Given the description of an element on the screen output the (x, y) to click on. 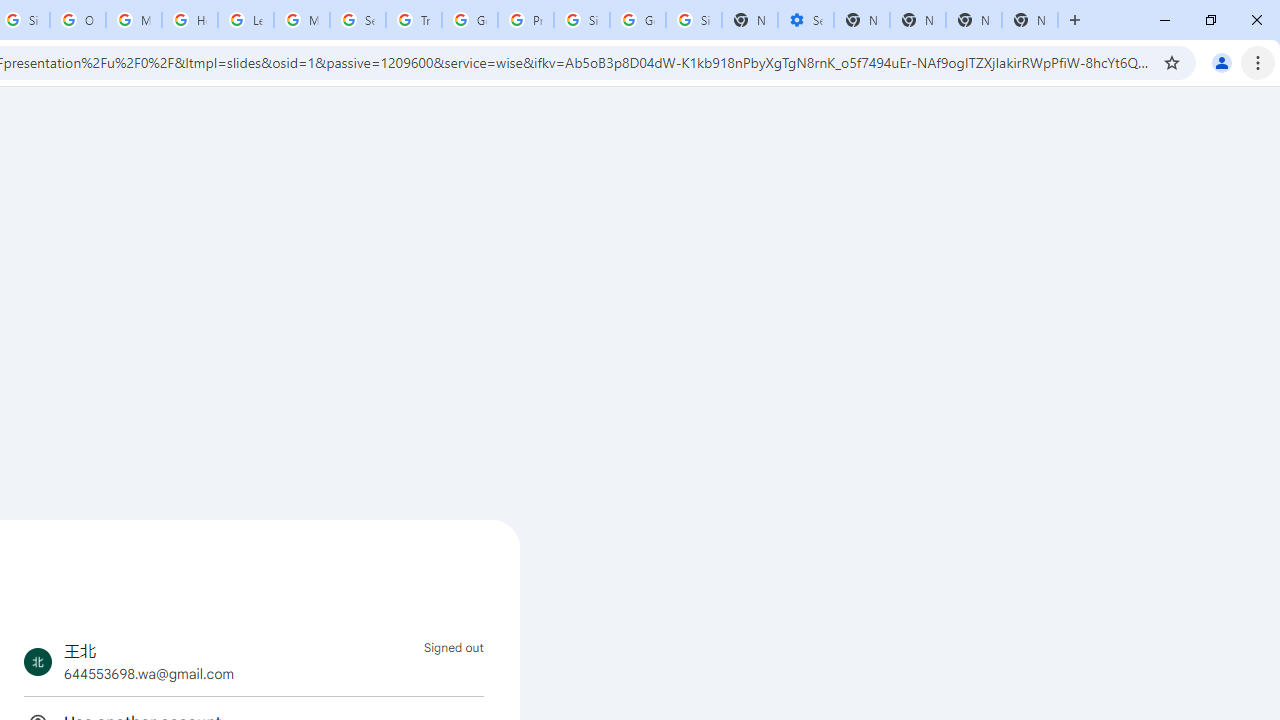
Google Ads - Sign in (469, 20)
Sign in - Google Accounts (582, 20)
Search our Doodle Library Collection - Google Doodles (358, 20)
Google Cybersecurity Innovations - Google Safety Center (637, 20)
